Given the description of an element on the screen output the (x, y) to click on. 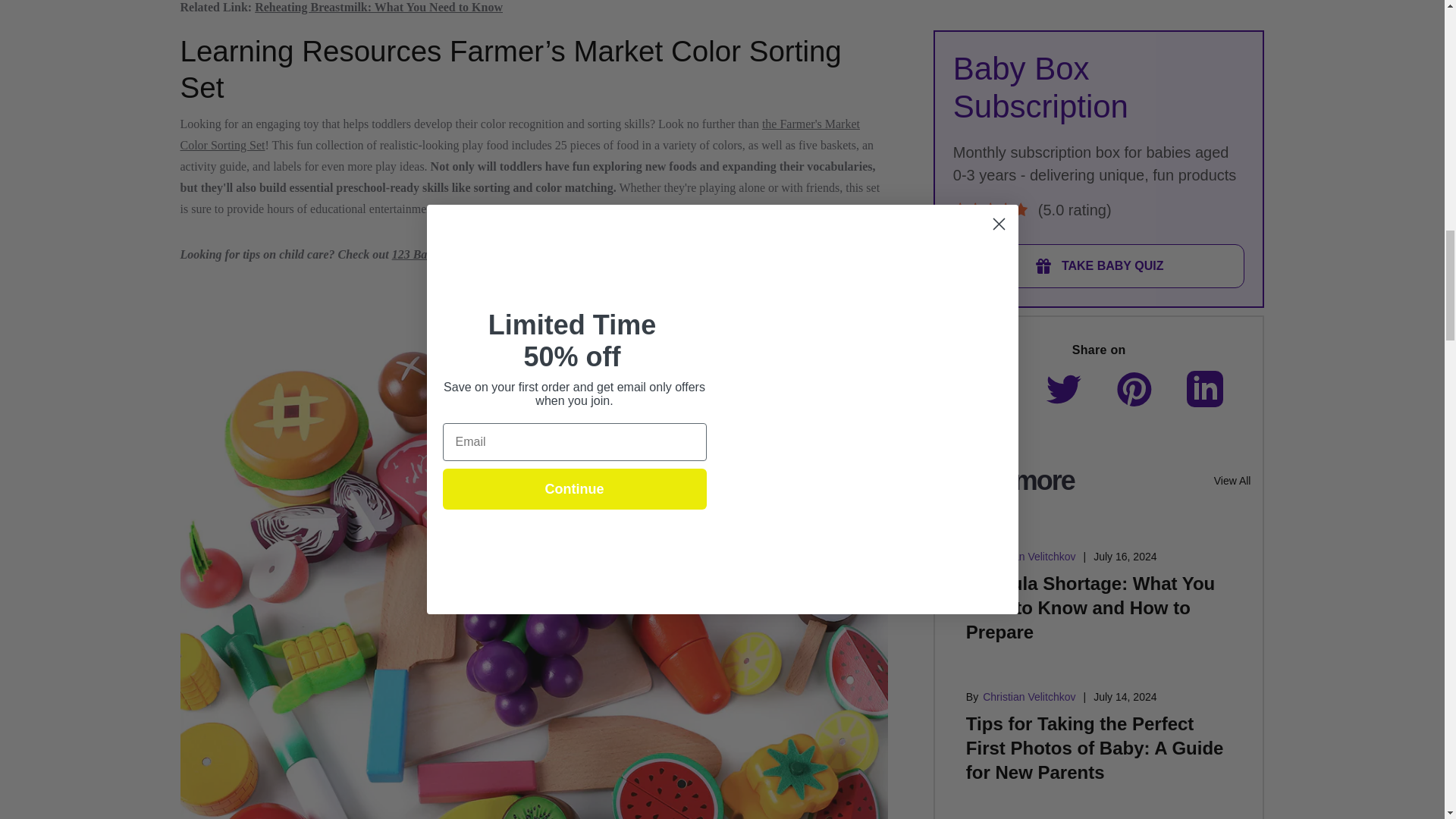
123 Baby Box (426, 254)
the Farmer's Market Color Sorting Set (520, 134)
Reheating Breastmilk: What You Need to Know (378, 6)
